Given the description of an element on the screen output the (x, y) to click on. 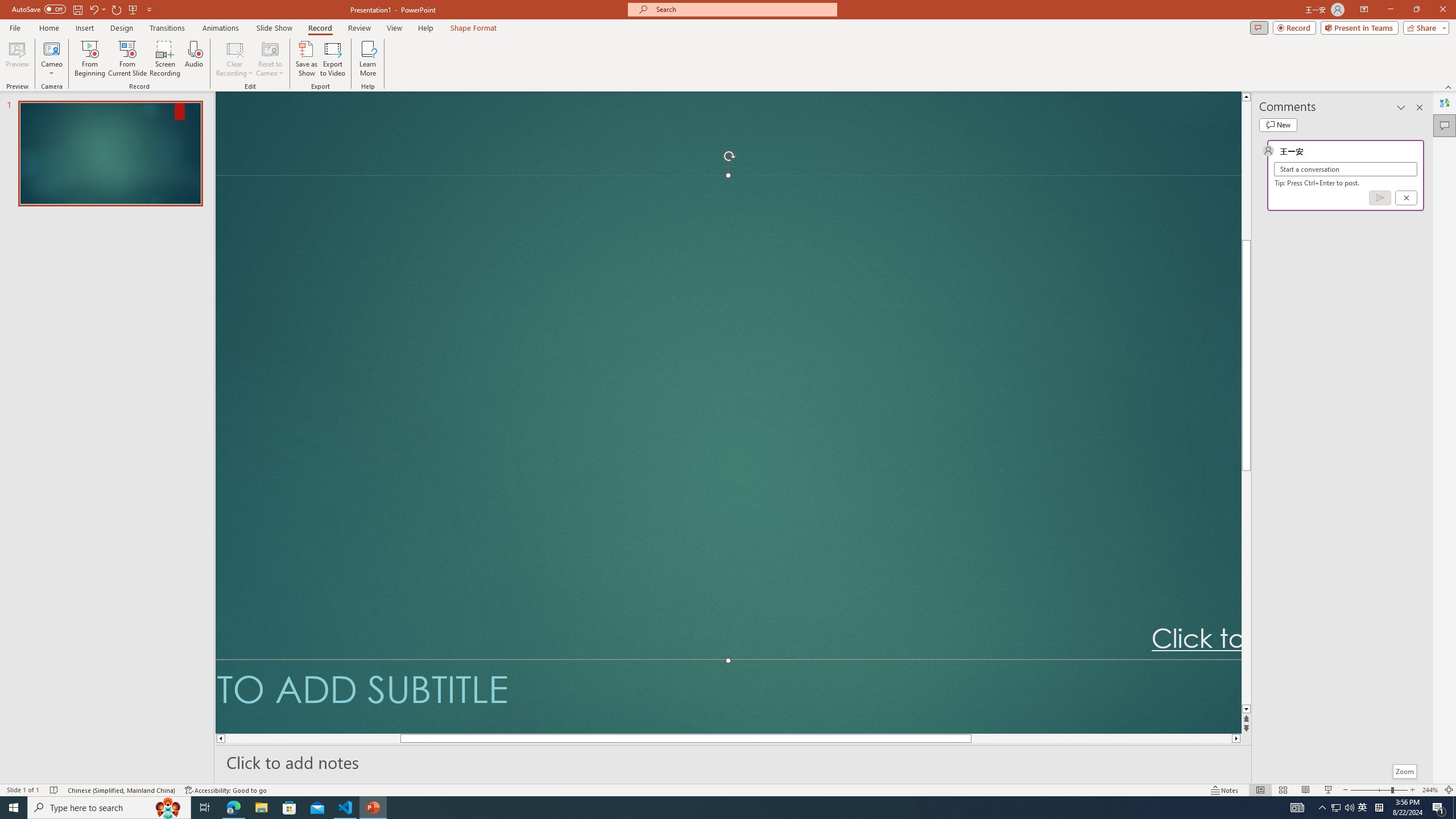
Line up (1245, 96)
Page down (1245, 587)
